Given the description of an element on the screen output the (x, y) to click on. 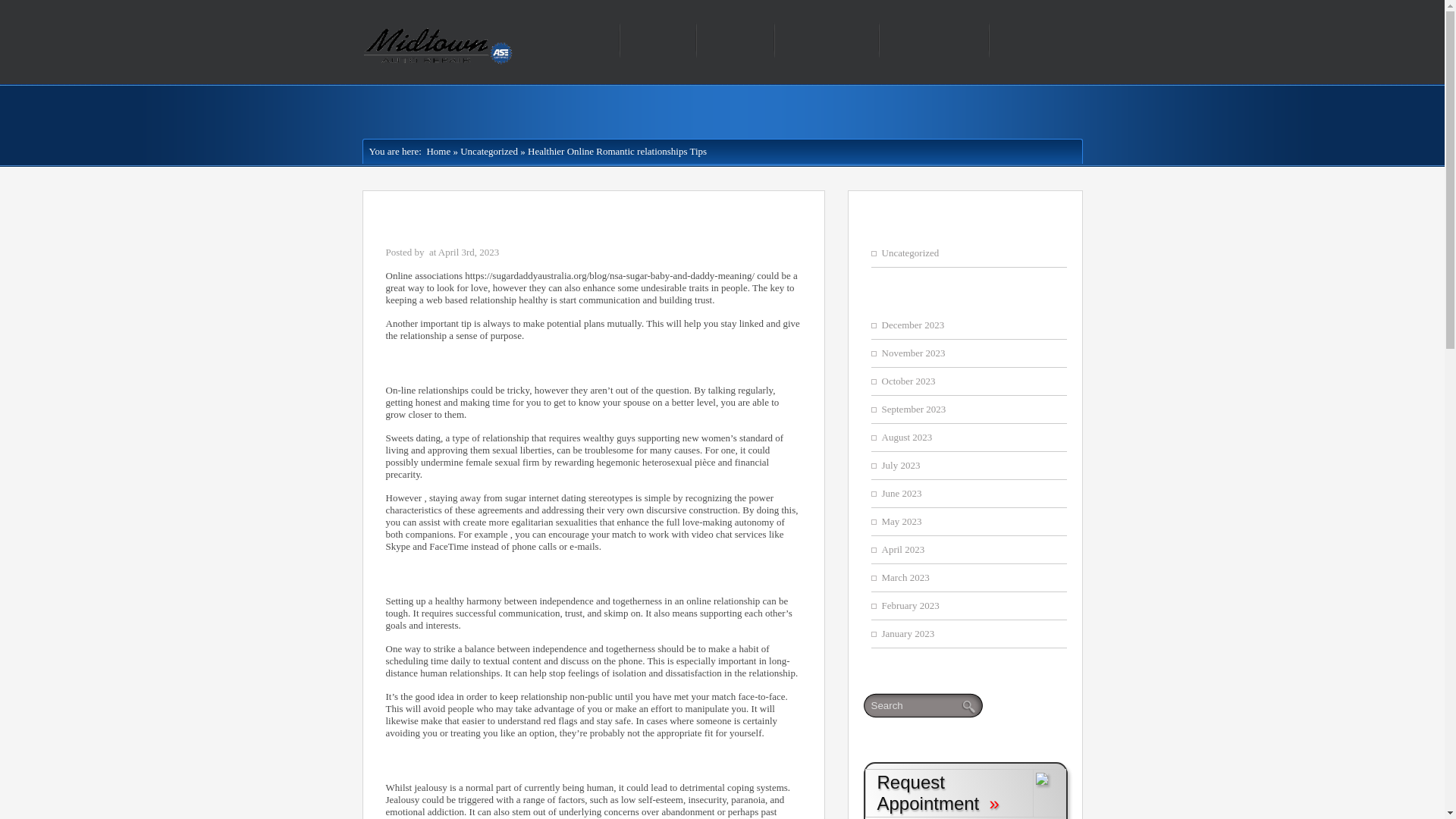
Uncategorized (909, 252)
October 2023 (907, 380)
April 2023 (902, 549)
Uncategorized (489, 151)
July 2023 (900, 464)
December 2023 (911, 324)
May 2023 (900, 521)
March 2023 (904, 577)
February 2023 (909, 604)
Search (919, 703)
September 2023 (912, 408)
January 2023 (907, 633)
June 2023 (900, 492)
November 2023 (912, 352)
  Home (435, 151)
